Given the description of an element on the screen output the (x, y) to click on. 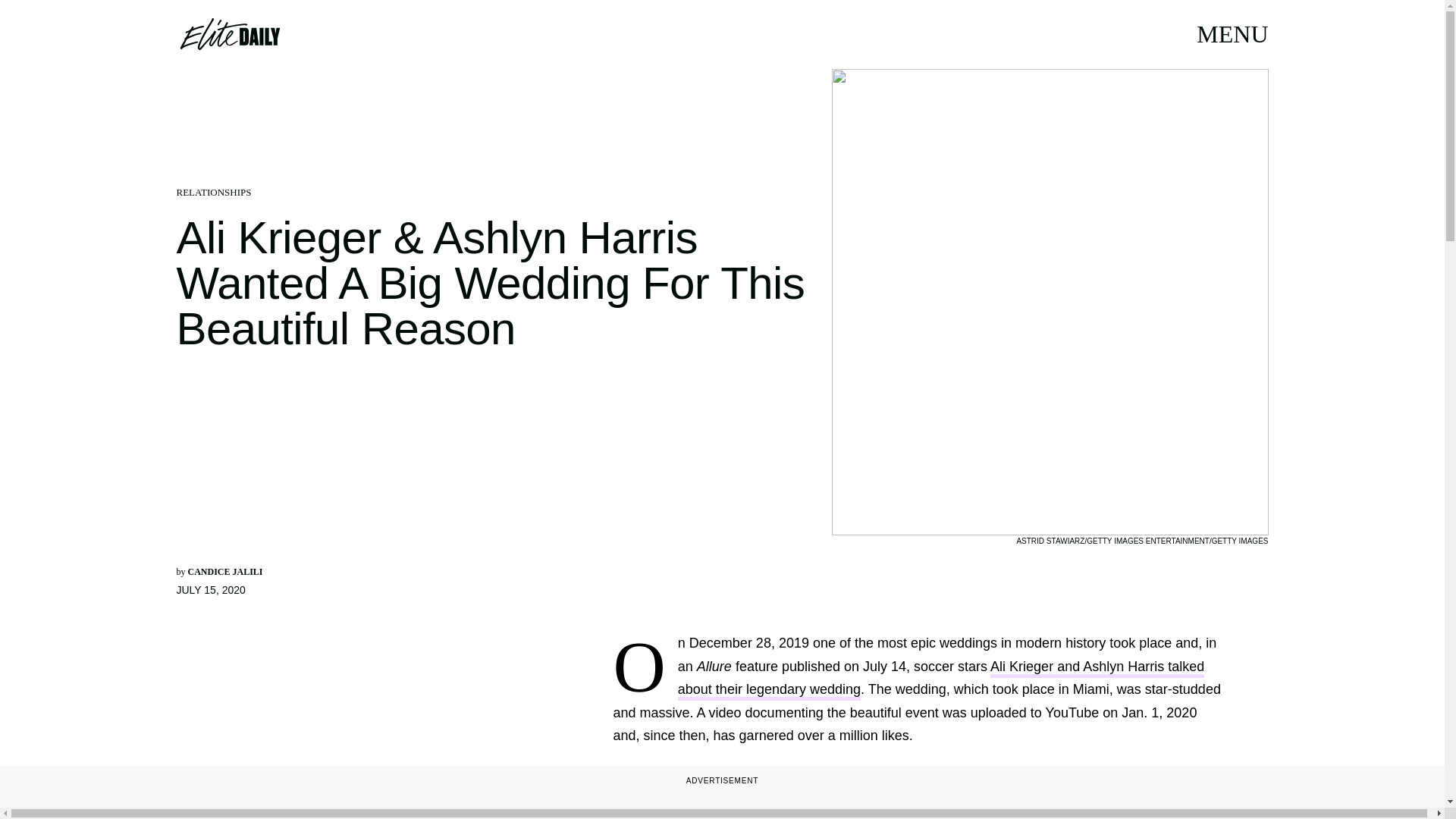
Elite Daily (229, 33)
